Given the description of an element on the screen output the (x, y) to click on. 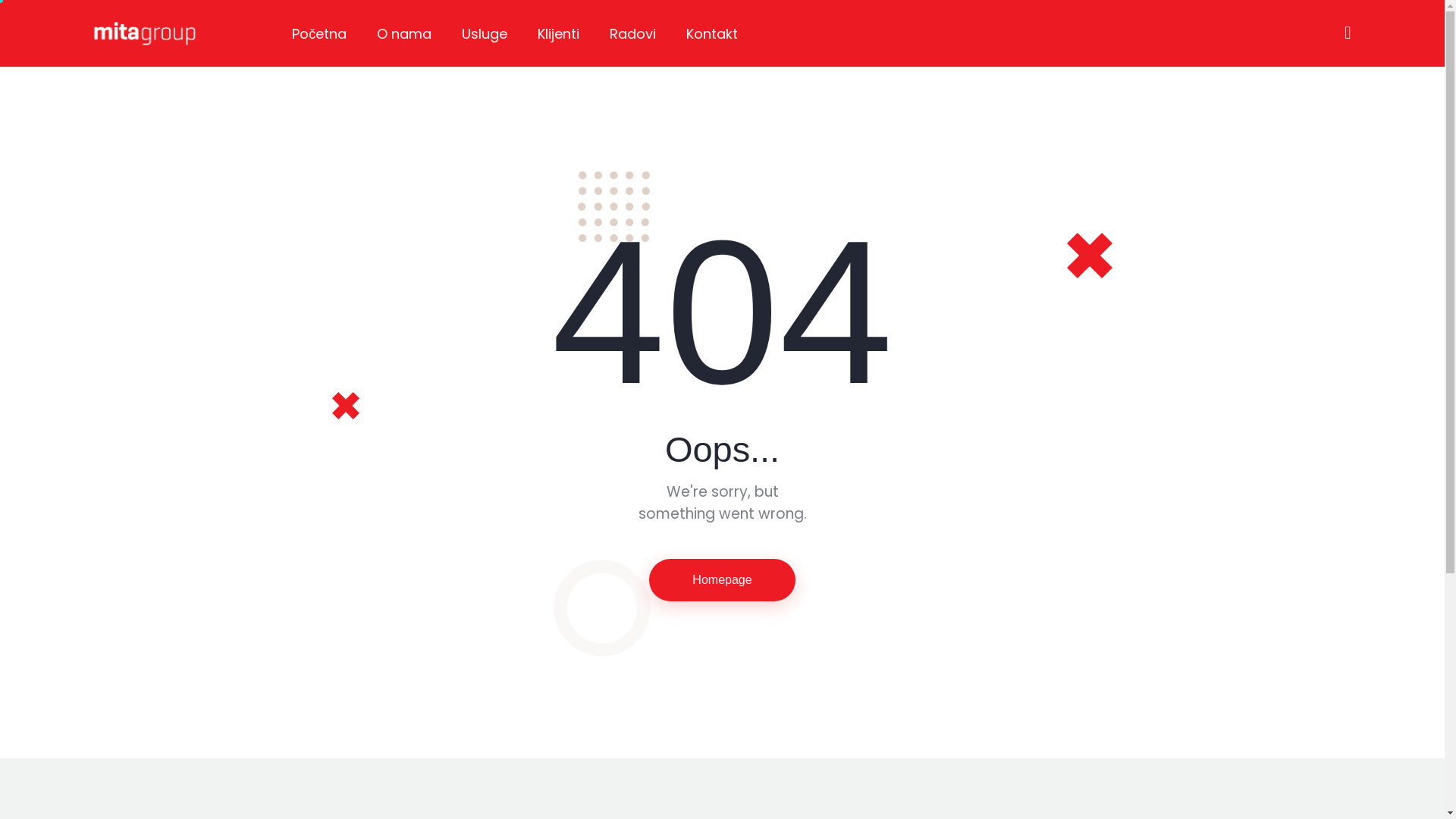
Radovi Element type: text (632, 35)
Kontakt Element type: text (712, 35)
O nama Element type: text (403, 35)
Klijenti Element type: text (558, 35)
Homepage Element type: text (721, 579)
Usluge Element type: text (484, 35)
